Given the description of an element on the screen output the (x, y) to click on. 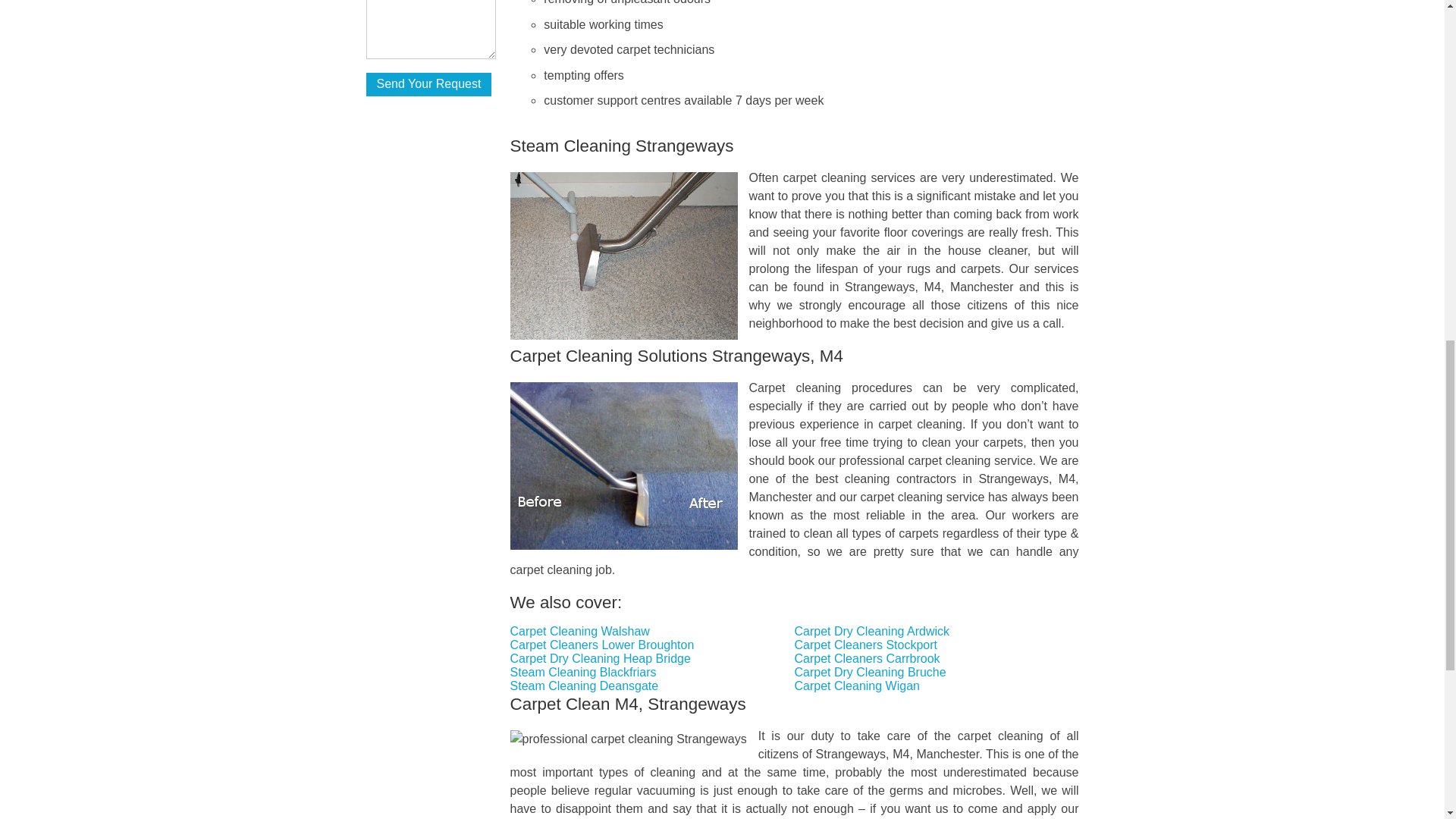
M7 Carpet Cleaners Lower Broughton (602, 644)
Steam Cleaning Blackfriars (583, 671)
BL9 Carpet Dry Cleaning Heap Bridge (600, 658)
M3 Steam Cleaning Blackfriars (583, 671)
M12 Carpet Dry Cleaning Ardwick (872, 631)
Carpet Cleaning Walshaw (580, 631)
Carpet Dry Cleaning Bruche (870, 671)
Carpet Dry Cleaning Heap Bridge (600, 658)
Carpet Cleaners Stockport (865, 644)
Carpet Cleaners Carrbrook (867, 658)
M2 Steam Cleaning Deansgate (585, 685)
BL8 Carpet Cleaning Walshaw (580, 631)
Send Your Request (428, 84)
Send Your Request (428, 84)
Carpet Cleaners Lower Broughton (602, 644)
